Given the description of an element on the screen output the (x, y) to click on. 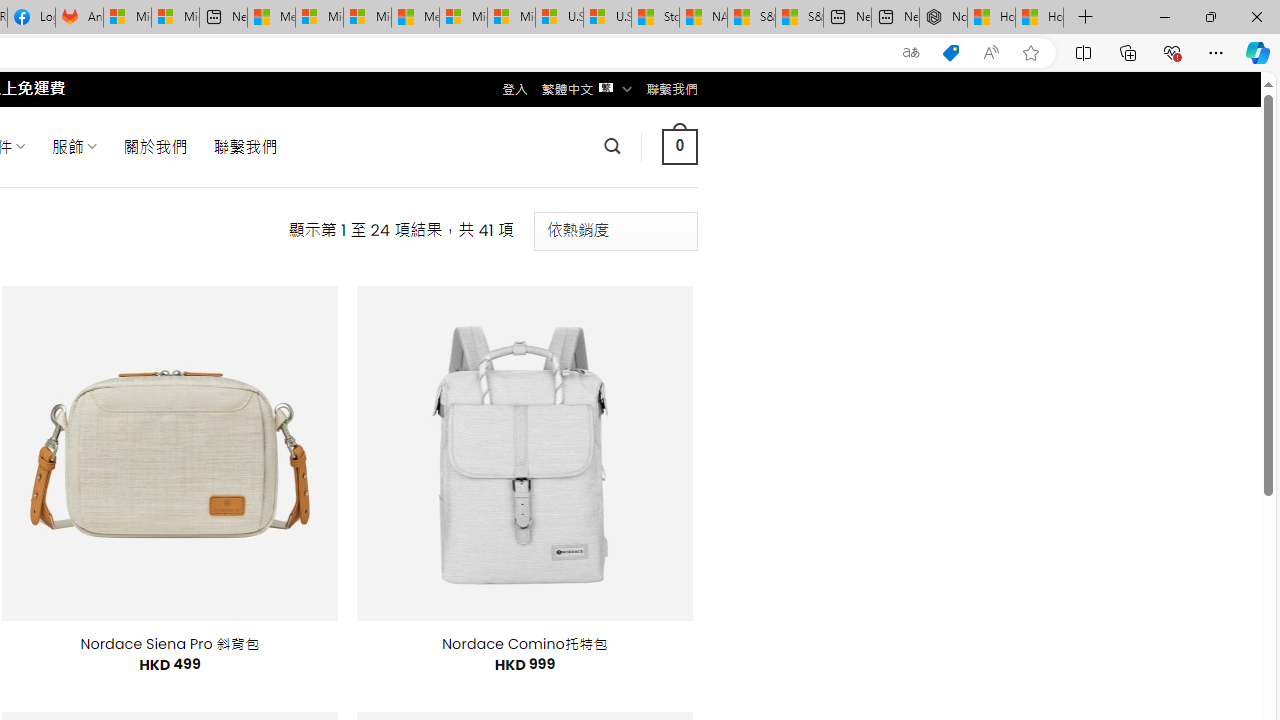
Microsoft account | Home (367, 17)
